Given the description of an element on the screen output the (x, y) to click on. 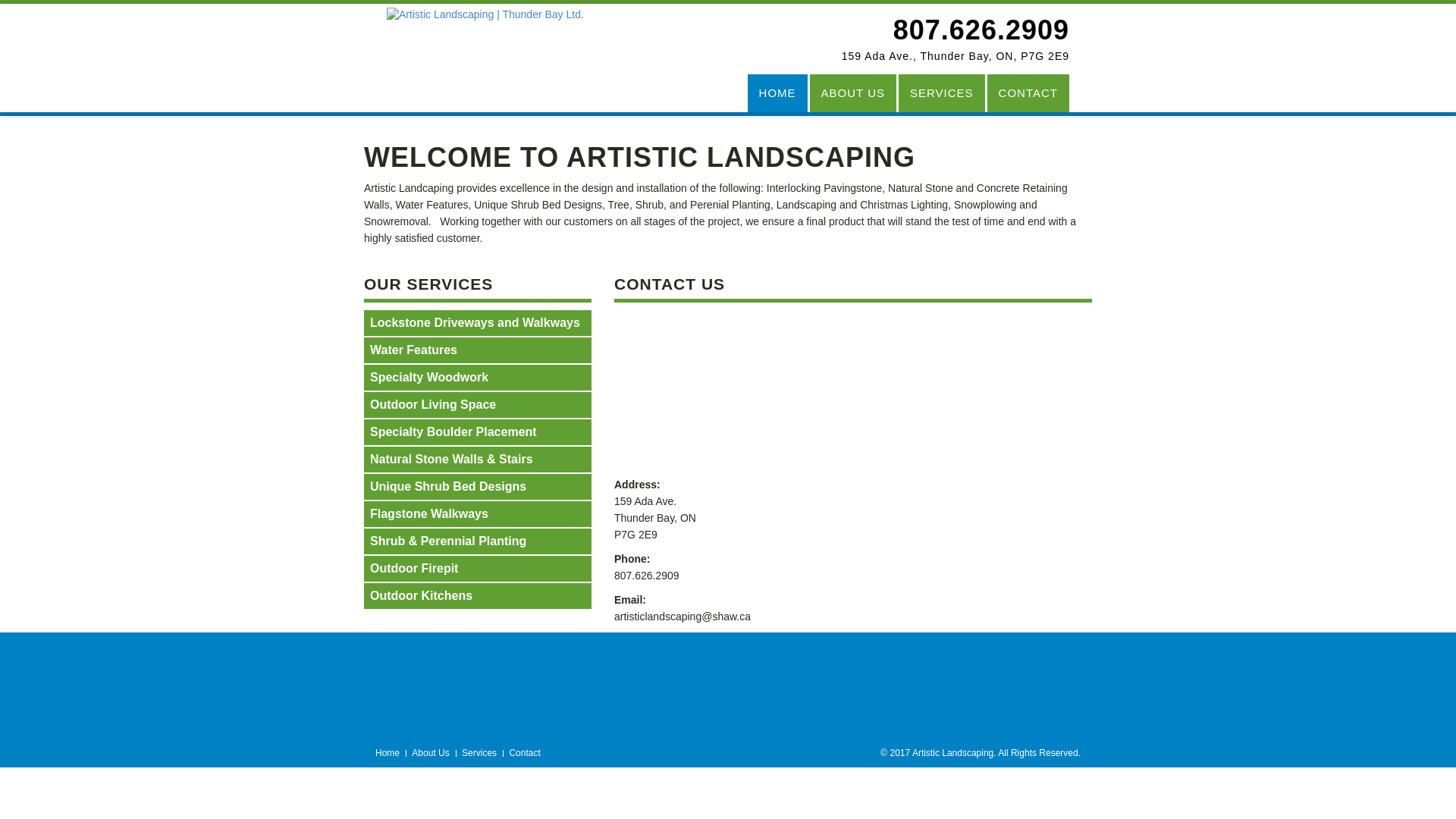
Specialty Woodwork Element type: text (477, 377)
Shrub & Perennial Planting Element type: text (477, 541)
ABOUT US Element type: text (852, 93)
Unique Shrub Bed Designs Element type: text (477, 486)
Flagstone Walkways Element type: text (477, 514)
HOME Element type: text (777, 93)
Outdoor Living Space Element type: text (477, 404)
SERVICES Element type: text (941, 93)
Natural Stone Walls & Stairs Element type: text (477, 459)
Lockstone Driveways and Walkways Element type: text (477, 322)
Water Features Element type: text (477, 350)
CONTACT Element type: text (1028, 93)
Services Element type: text (478, 752)
Specialty Boulder Placement Element type: text (477, 432)
Outdoor Kitchens Element type: text (477, 595)
Outdoor Firepit Element type: text (477, 568)
About Us Element type: text (429, 752)
Contact Element type: text (523, 752)
Home Element type: text (387, 752)
